Given the description of an element on the screen output the (x, y) to click on. 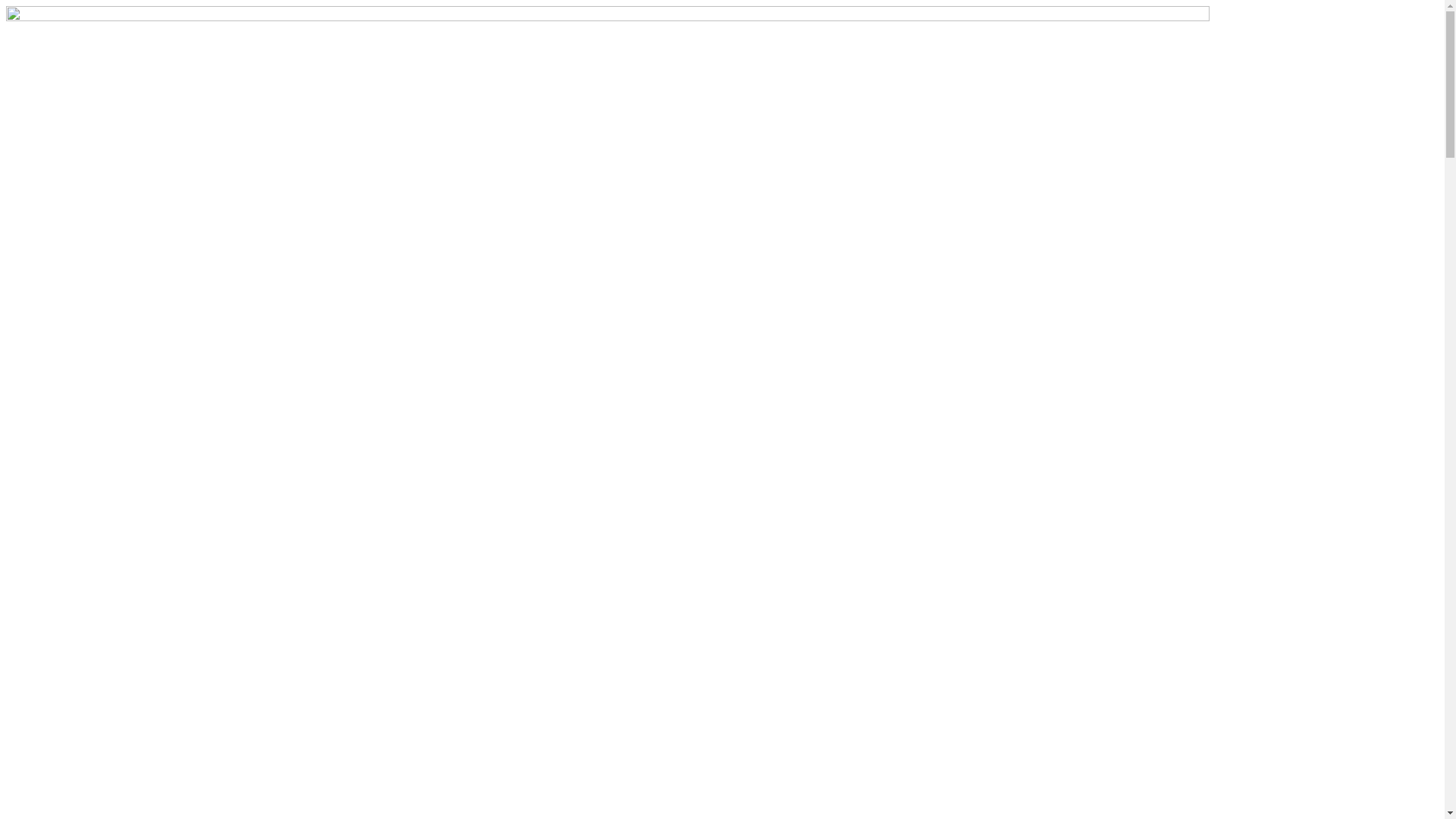
Skip to content Element type: text (5, 5)
